Given the description of an element on the screen output the (x, y) to click on. 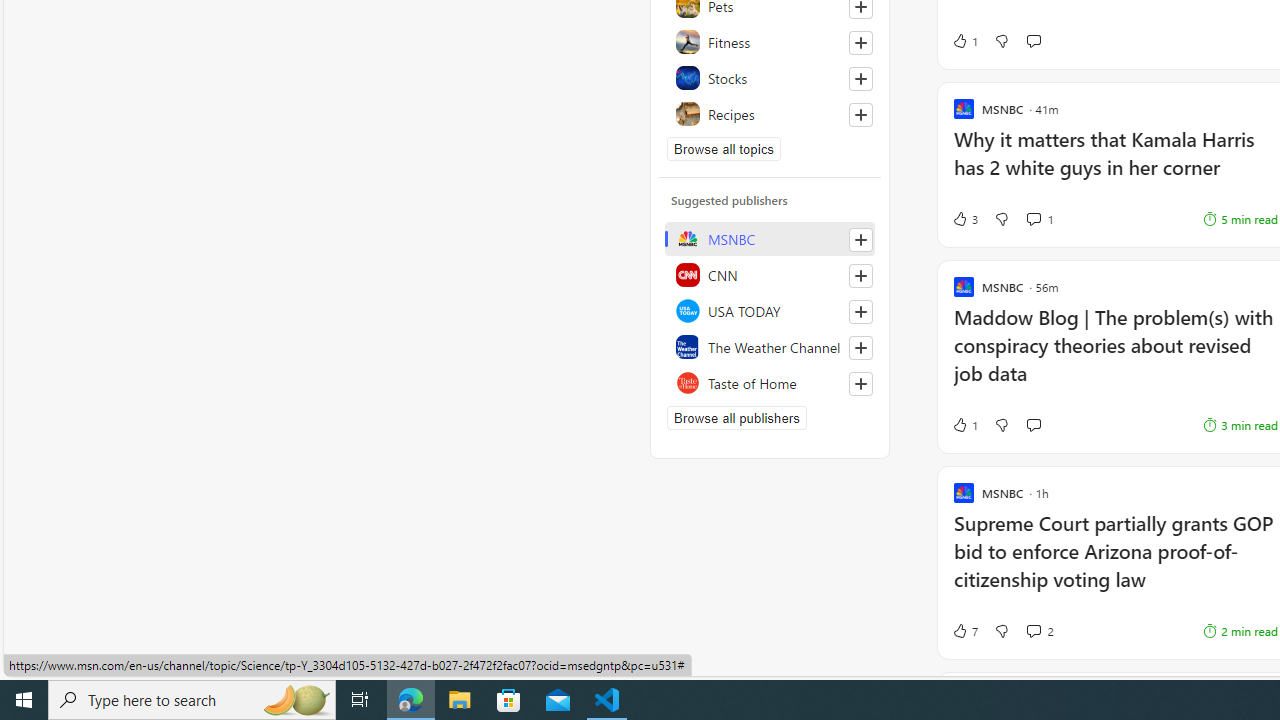
Follow this source (860, 384)
View comments 2 Comment (1039, 630)
Taste of Home (770, 382)
Start the conversation (1033, 425)
Stocks (770, 78)
Dislike (1001, 630)
Follow this source (860, 384)
CNN (770, 274)
Browse all topics (724, 148)
Follow this topic (860, 114)
Browse all publishers (736, 417)
Follow this topic (860, 114)
